Given the description of an element on the screen output the (x, y) to click on. 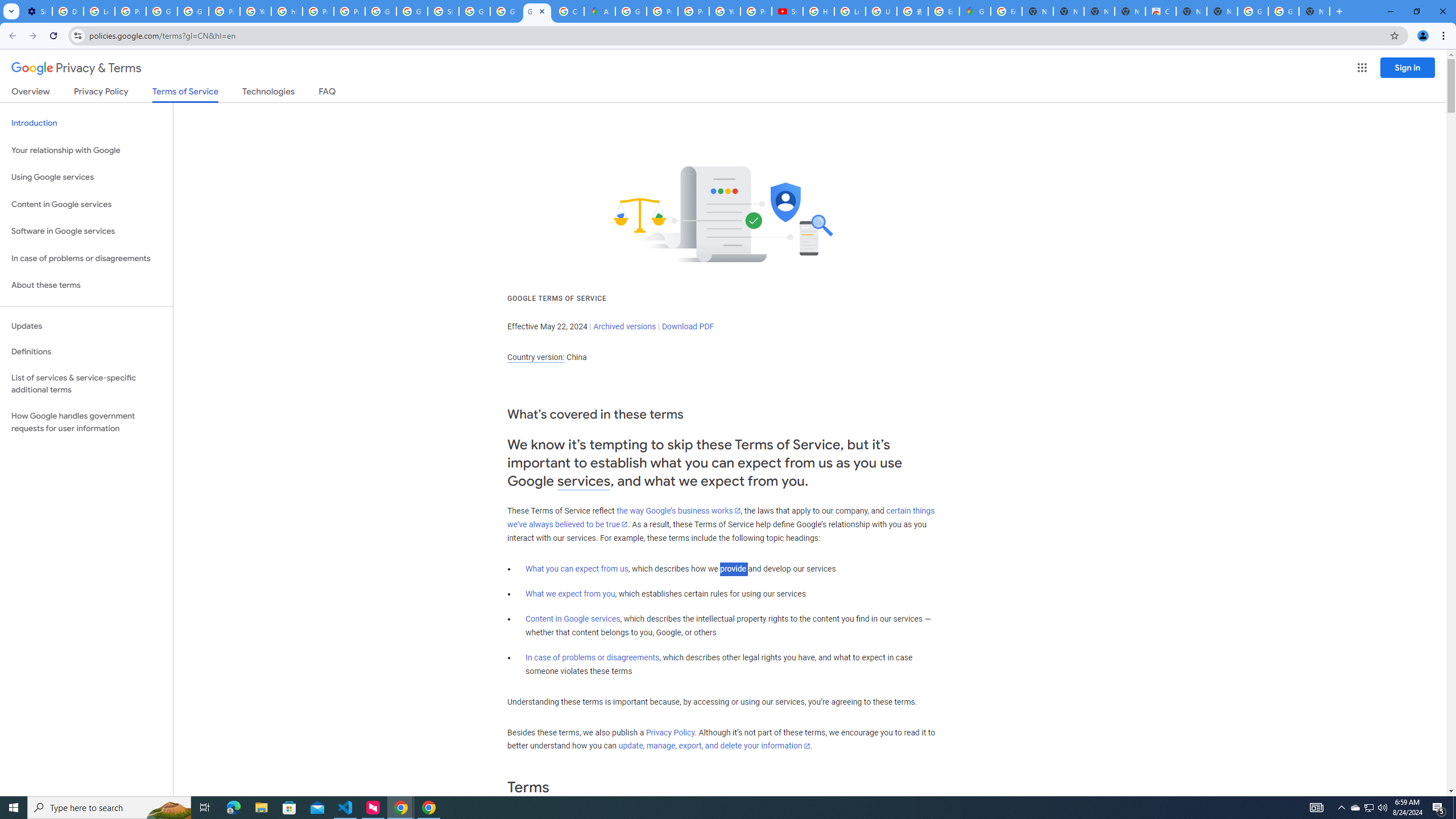
Content in Google services (572, 618)
New Tab (1314, 11)
Google Images (1252, 11)
